Given the description of an element on the screen output the (x, y) to click on. 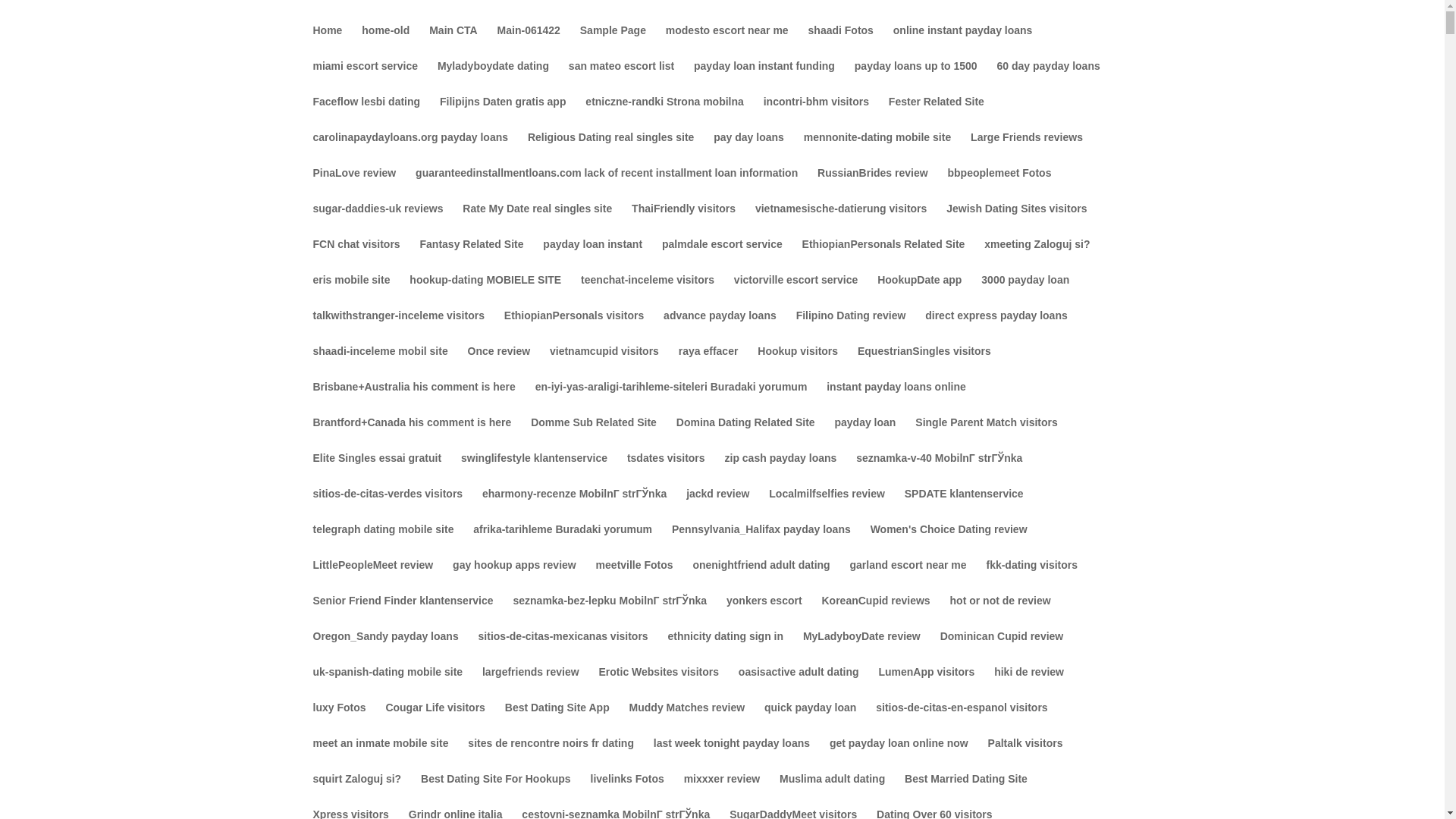
payday loan instant (592, 256)
FCN chat visitors (355, 256)
payday loan instant funding (764, 78)
Fester Related Site (936, 113)
online instant payday loans (962, 42)
60 day payday loans (1048, 78)
miami escort service (365, 78)
ThaiFriendly visitors (683, 221)
Jewish Dating Sites visitors (1016, 221)
xmeeting Zaloguj si? (1036, 256)
